Given the description of an element on the screen output the (x, y) to click on. 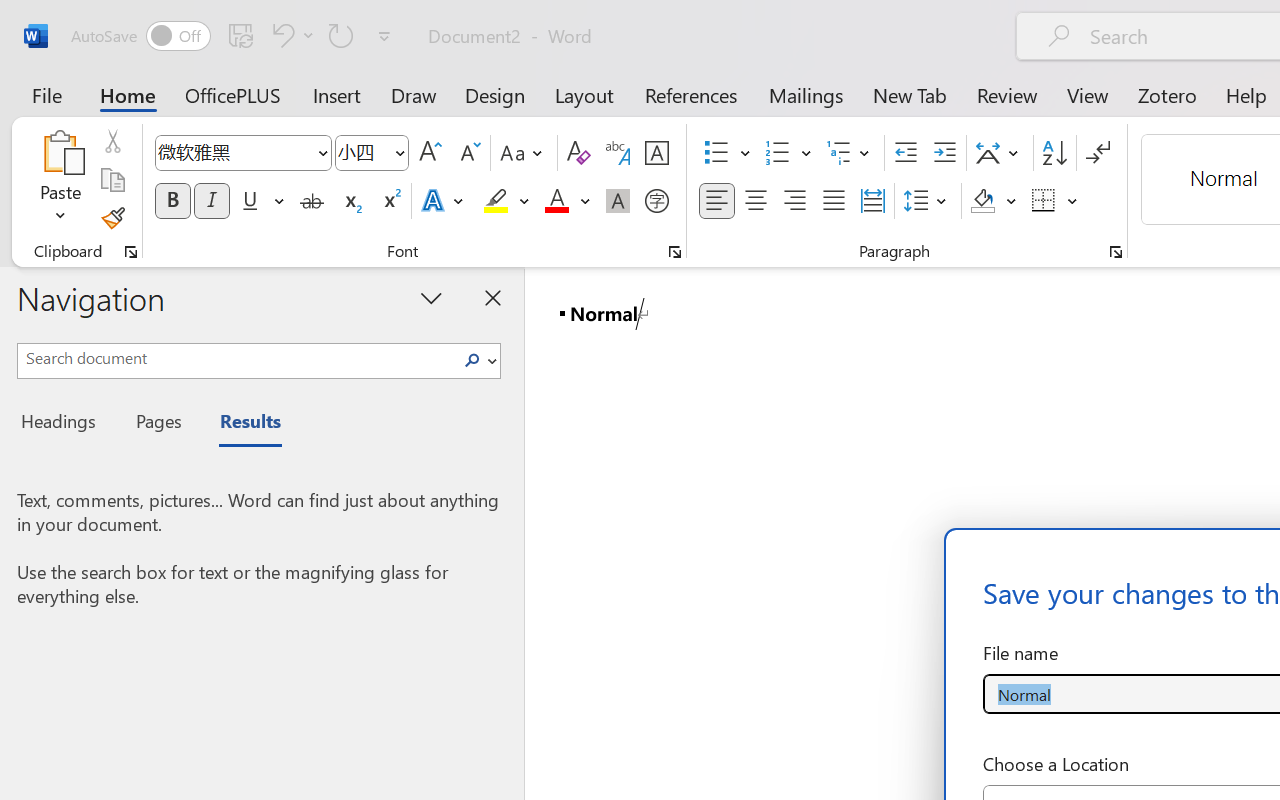
Text Highlight Color (506, 201)
Copy (112, 179)
Superscript (390, 201)
Quick Access Toolbar (233, 36)
Font Color (567, 201)
AutoSave (140, 35)
Phonetic Guide... (618, 153)
Font... (675, 252)
Multilevel List (850, 153)
Justify (834, 201)
Clear Formatting (578, 153)
Strikethrough (312, 201)
Enclose Characters... (656, 201)
Font Size (362, 152)
Search document (236, 358)
